Given the description of an element on the screen output the (x, y) to click on. 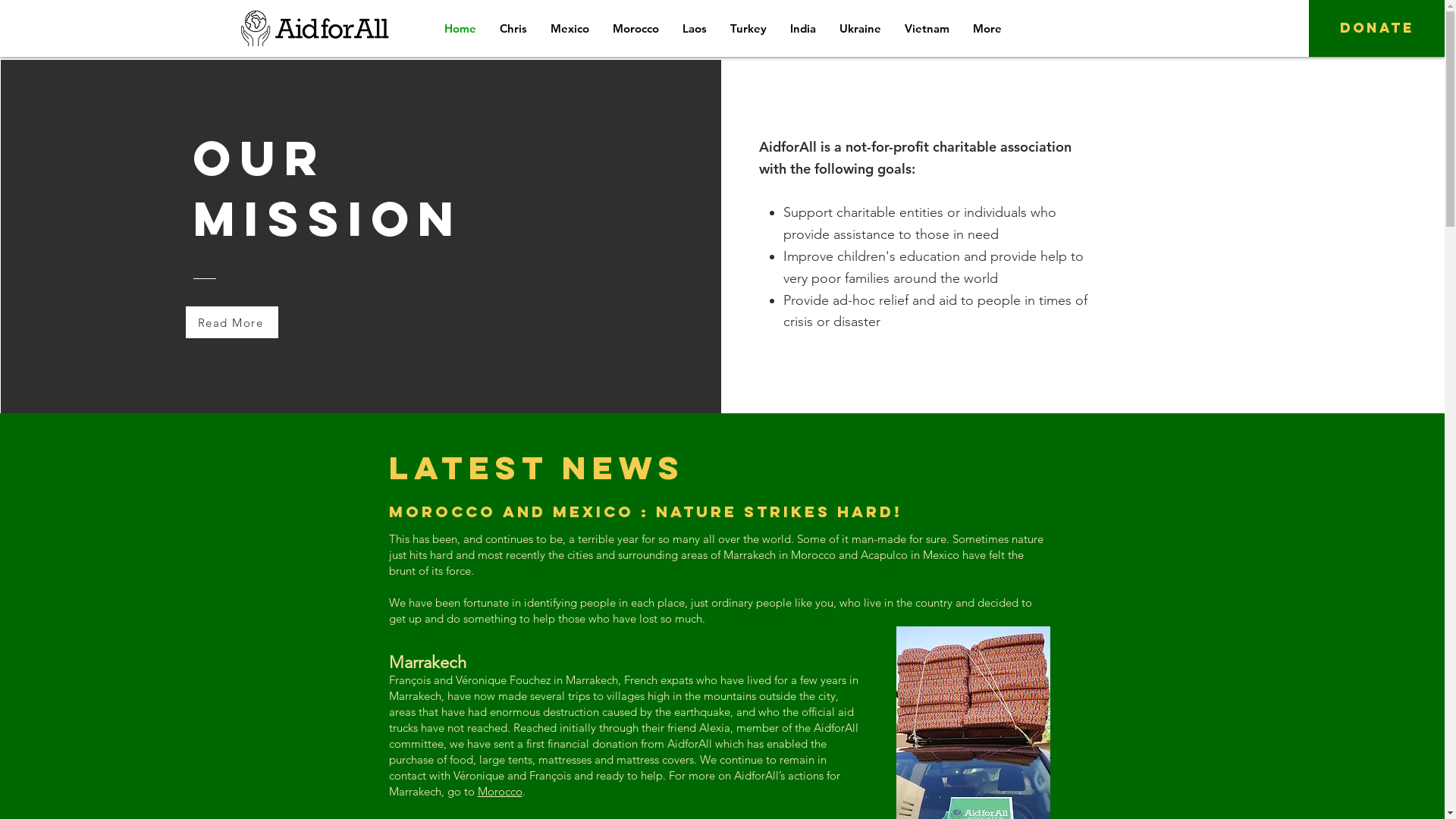
Morocco Element type: text (499, 791)
Home Element type: text (459, 28)
India Element type: text (802, 28)
Vietnam Element type: text (925, 28)
Chris Element type: text (511, 28)
DONATE Element type: text (1376, 28)
Ukraine Element type: text (858, 28)
Mexico Element type: text (569, 28)
Laos Element type: text (694, 28)
Turkey Element type: text (747, 28)
Read More Element type: text (231, 322)
Morocco Element type: text (635, 28)
